Given the description of an element on the screen output the (x, y) to click on. 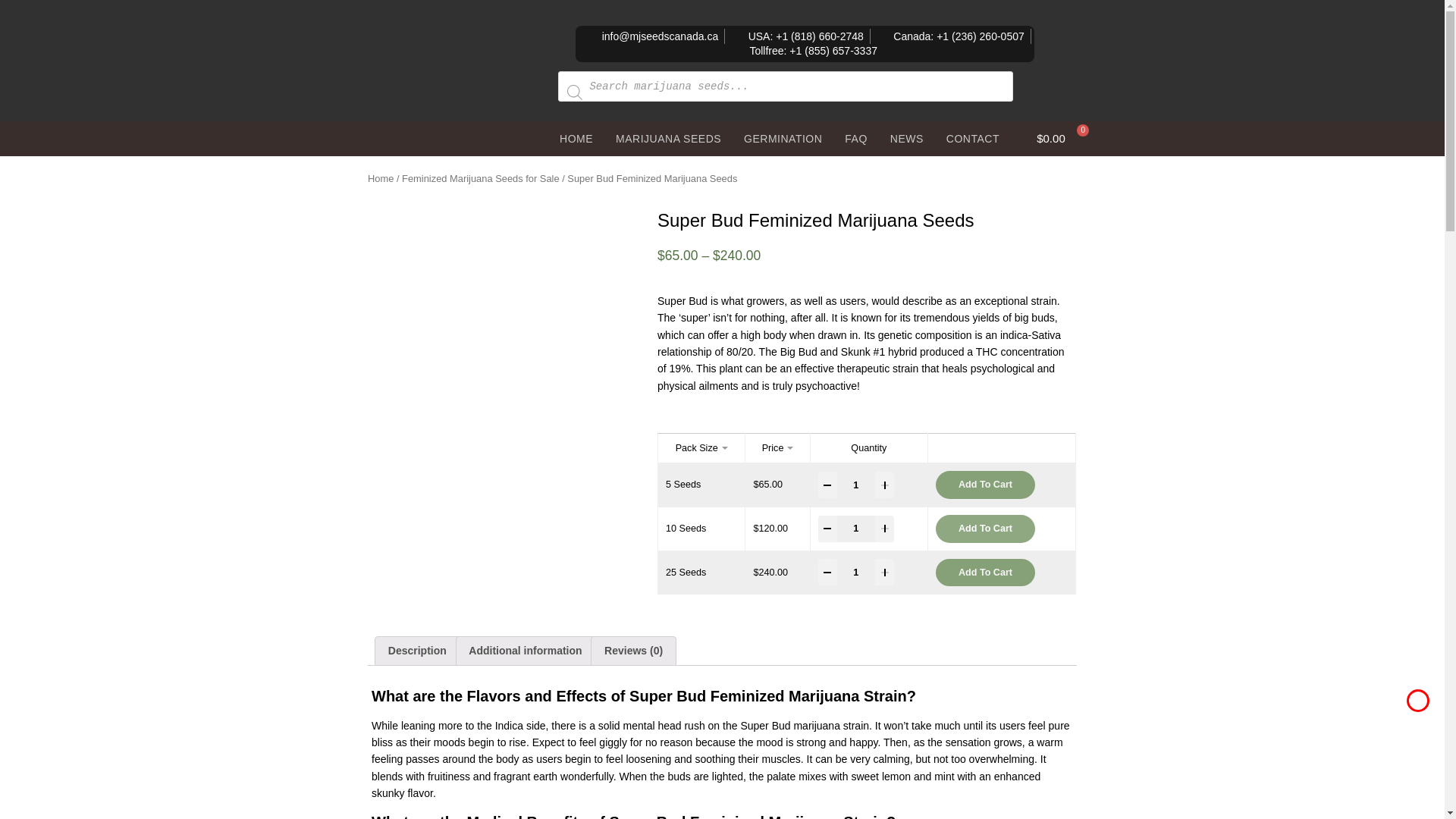
1 (856, 485)
FAQ (855, 138)
mjseedsca-logo-footer (464, 87)
CONTACT (972, 138)
HOME (576, 138)
1 (856, 572)
GERMINATION (782, 138)
MARIJUANA SEEDS (668, 138)
1 (856, 528)
NEWS (906, 138)
